Given the description of an element on the screen output the (x, y) to click on. 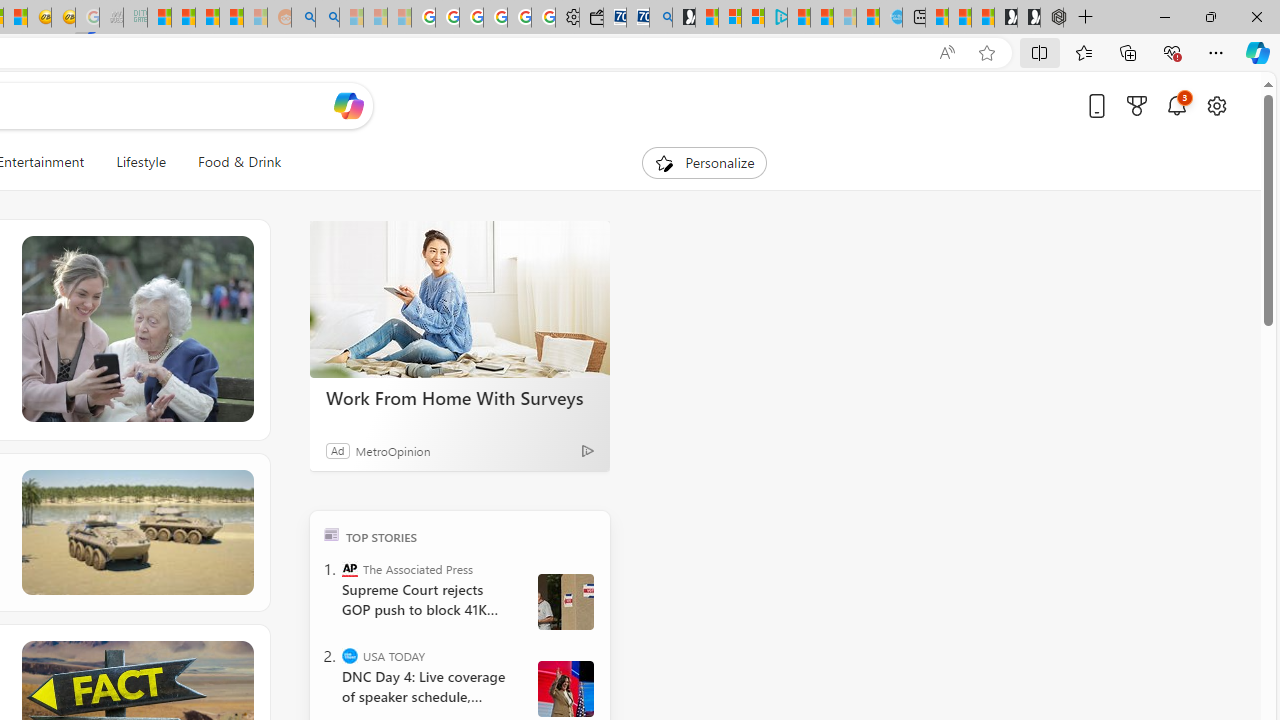
Bing Real Estate - Home sales and rental listings (660, 17)
Student Loan Update: Forgiveness Program Ends This Month (231, 17)
